Given the description of an element on the screen output the (x, y) to click on. 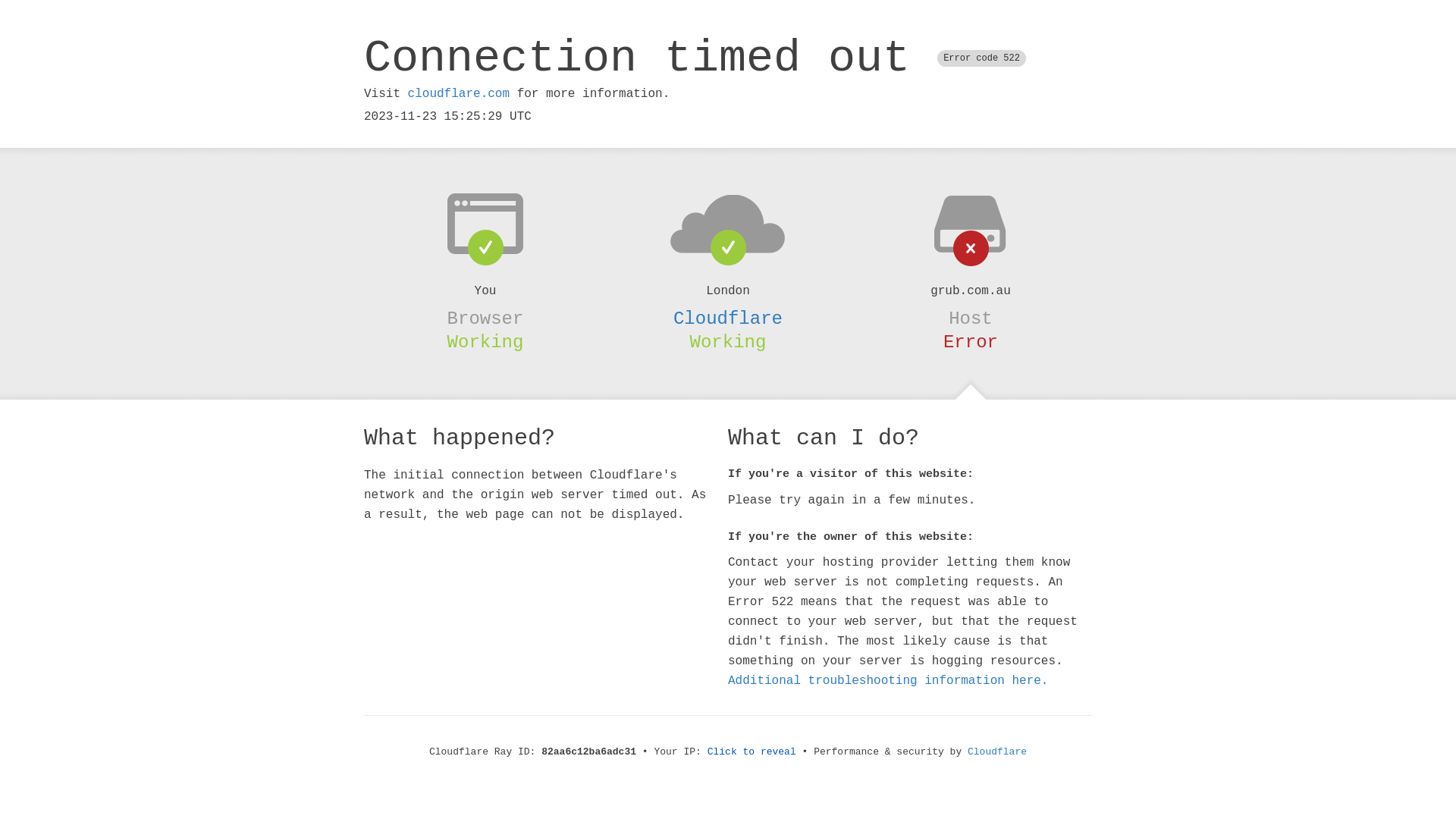
Additional troubleshooting information here. Element type: text (888, 680)
cloudflare.com Element type: text (458, 93)
Click to reveal Element type: text (751, 751)
Cloudflare Element type: text (727, 318)
Cloudflare Element type: text (996, 751)
